Given the description of an element on the screen output the (x, y) to click on. 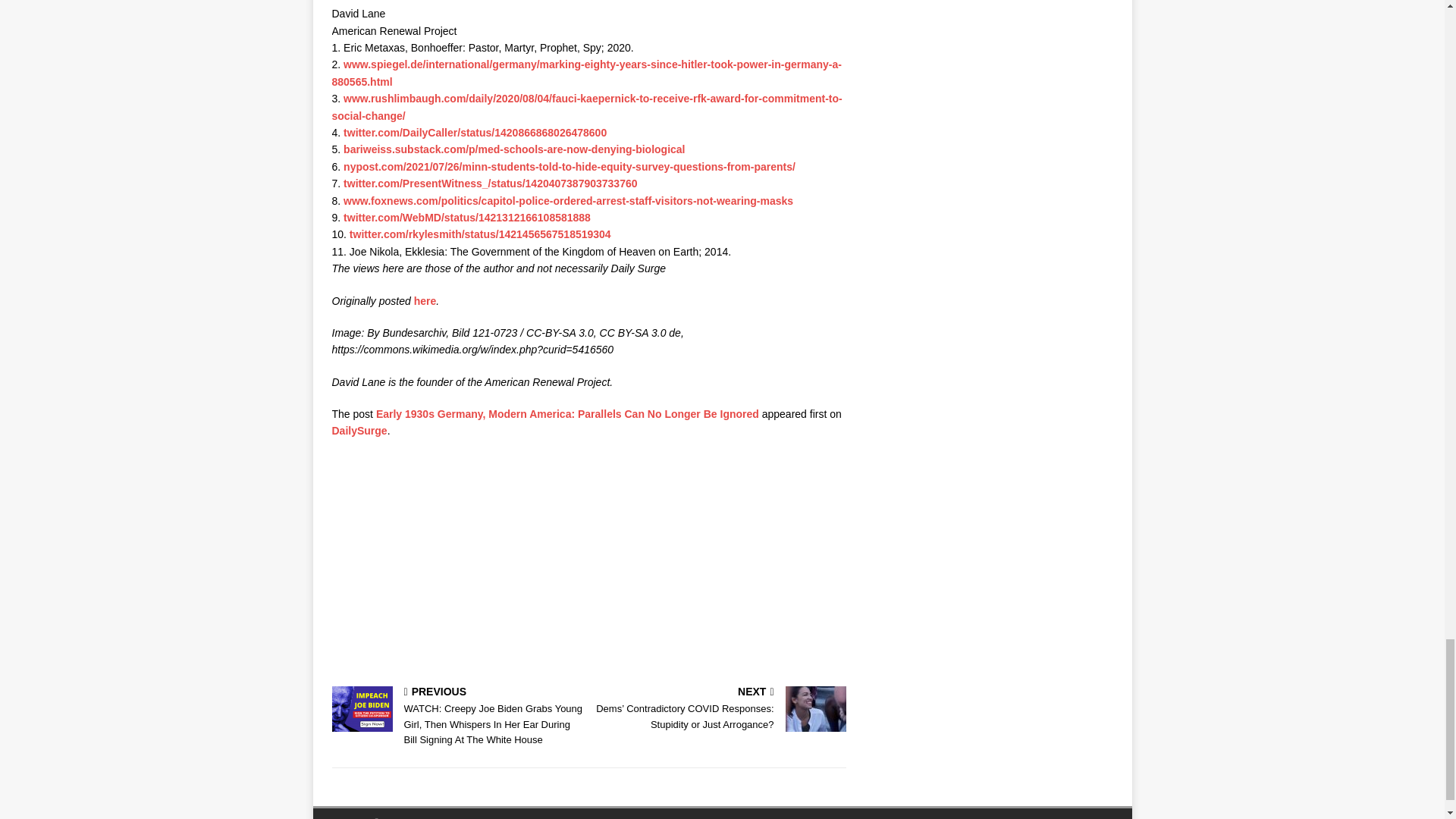
DailySurge (359, 430)
here (424, 300)
